Given the description of an element on the screen output the (x, y) to click on. 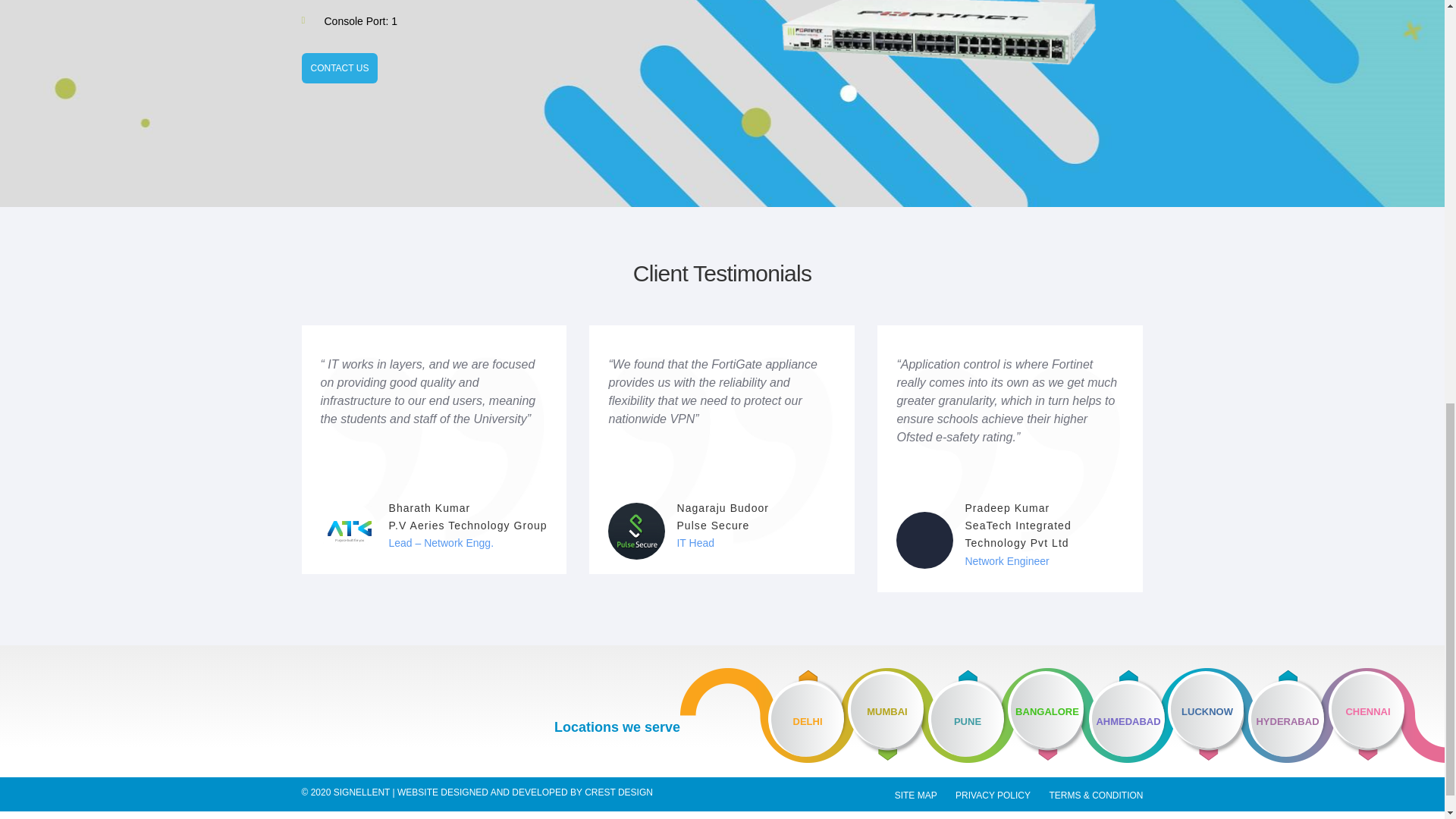
Locations we serve (616, 727)
CHENNAI (1385, 715)
CONTACT US (339, 68)
